Given the description of an element on the screen output the (x, y) to click on. 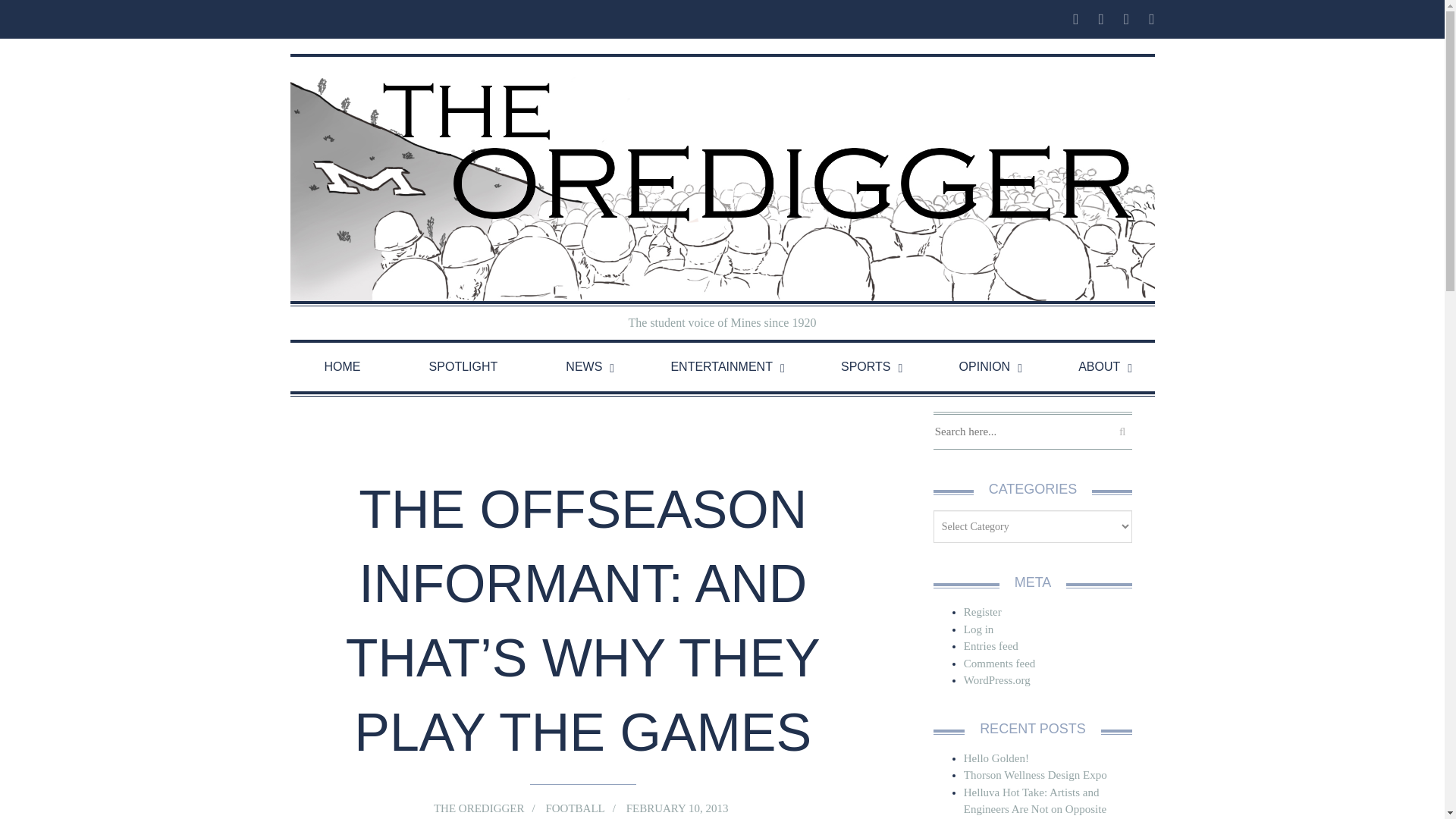
Posts by The Oredigger (478, 808)
HOME (341, 367)
SPORTS (865, 367)
SPOTLIGHT (463, 367)
ABOUT (1098, 367)
NEWS (583, 367)
OPINION (984, 367)
ENTERTAINMENT (721, 367)
Go back to home (721, 179)
